Given the description of an element on the screen output the (x, y) to click on. 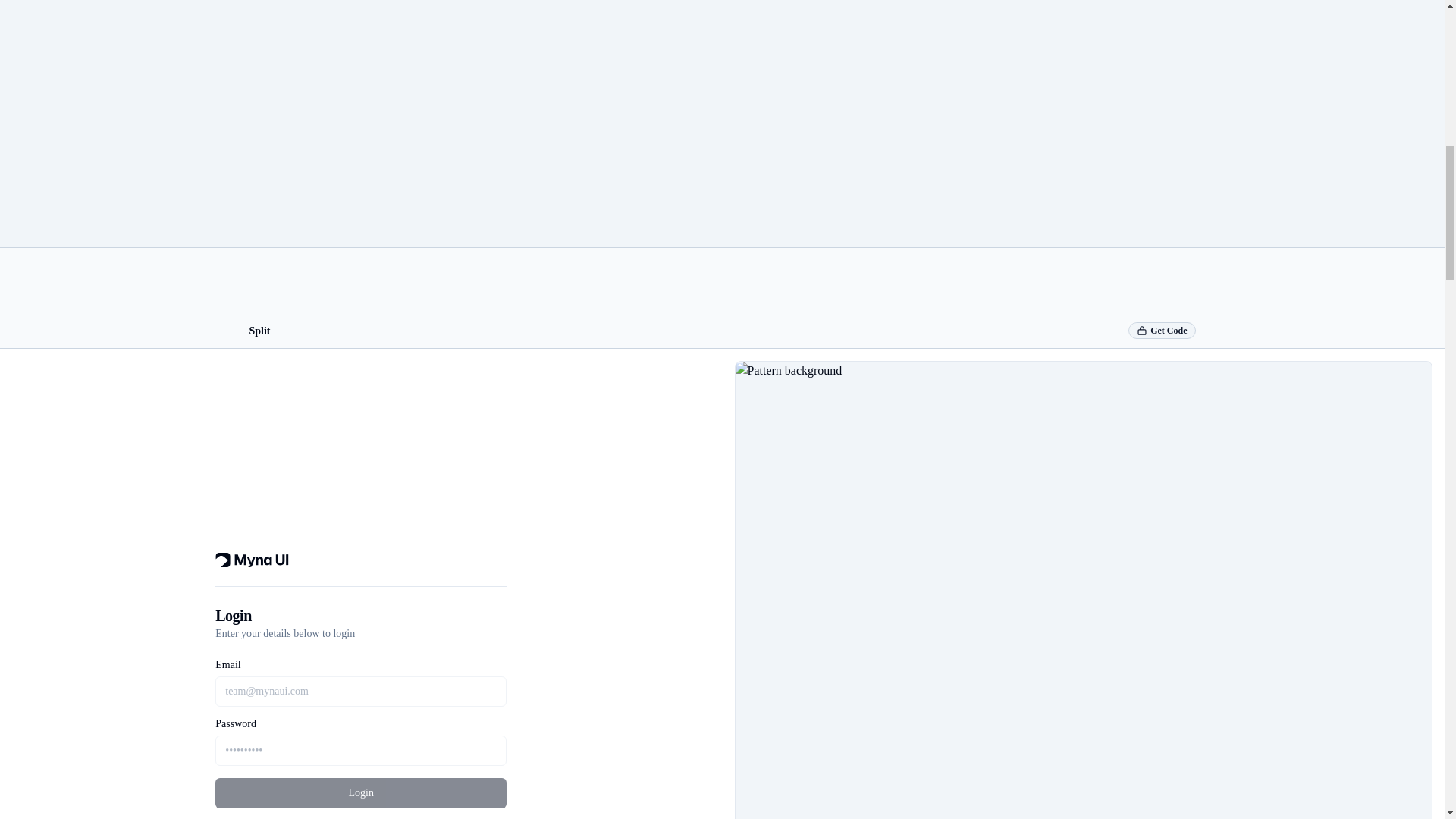
Get Code (1161, 330)
Login (360, 793)
Split (258, 330)
